Given the description of an element on the screen output the (x, y) to click on. 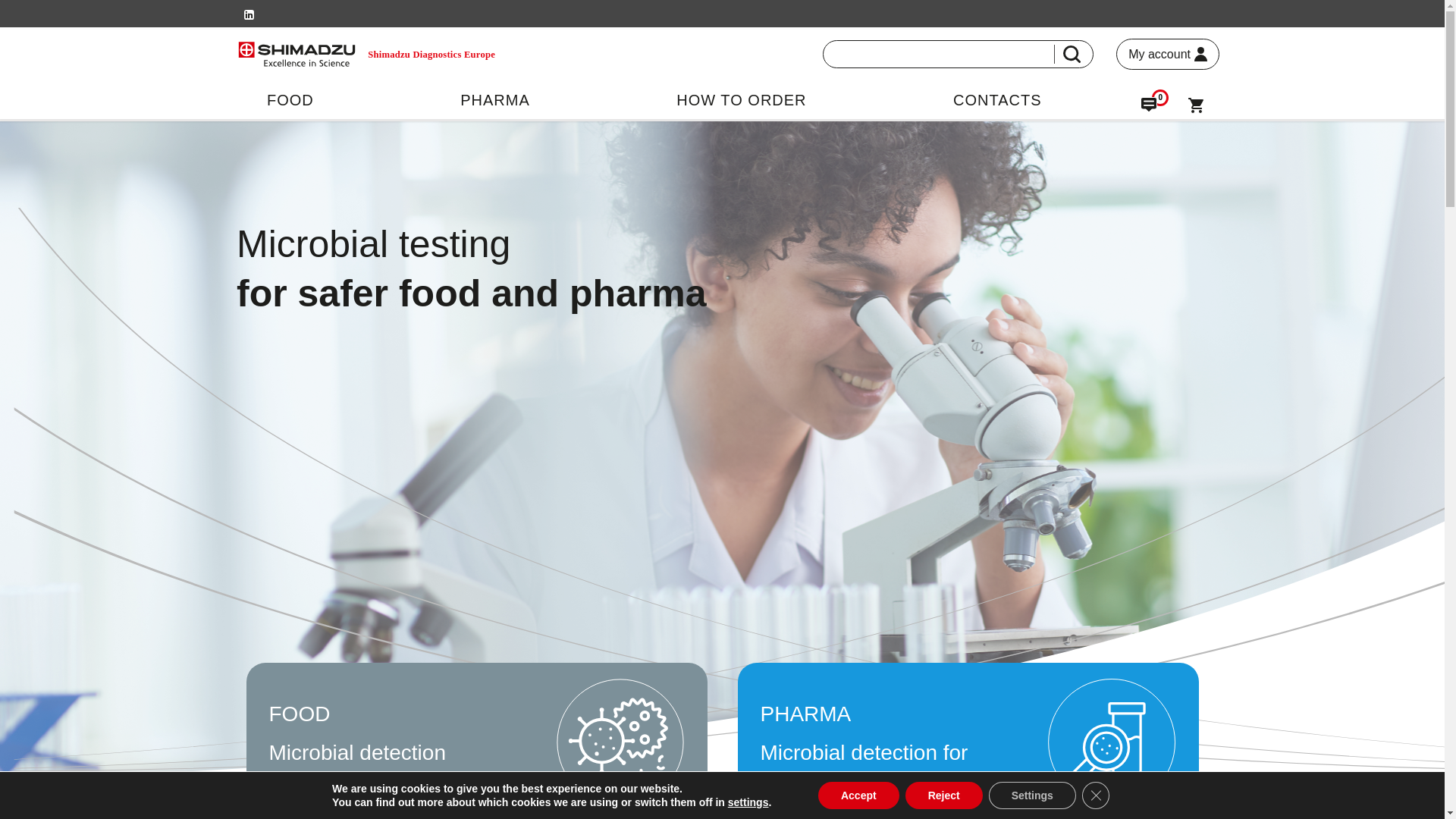
My account (1168, 53)
FOOD (290, 99)
CONTACTS (997, 99)
HOW TO ORDER (741, 99)
0 (1148, 107)
PHARMA (494, 99)
